Given the description of an element on the screen output the (x, y) to click on. 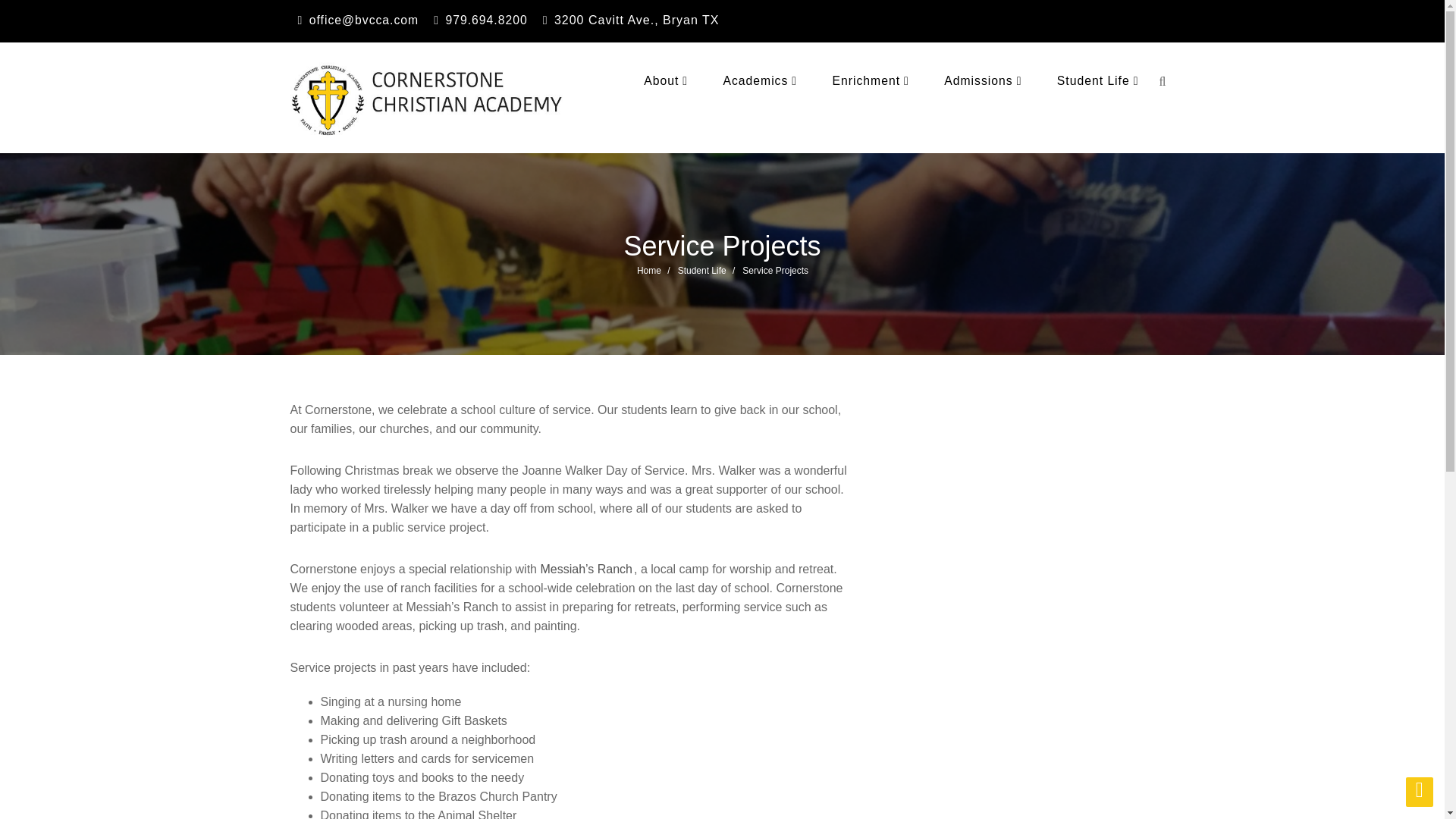
Enrichment (871, 80)
Academics (759, 80)
979.694.8200 (486, 19)
Home (649, 270)
Student Life (1097, 80)
About (666, 80)
Admissions (982, 80)
